Given the description of an element on the screen output the (x, y) to click on. 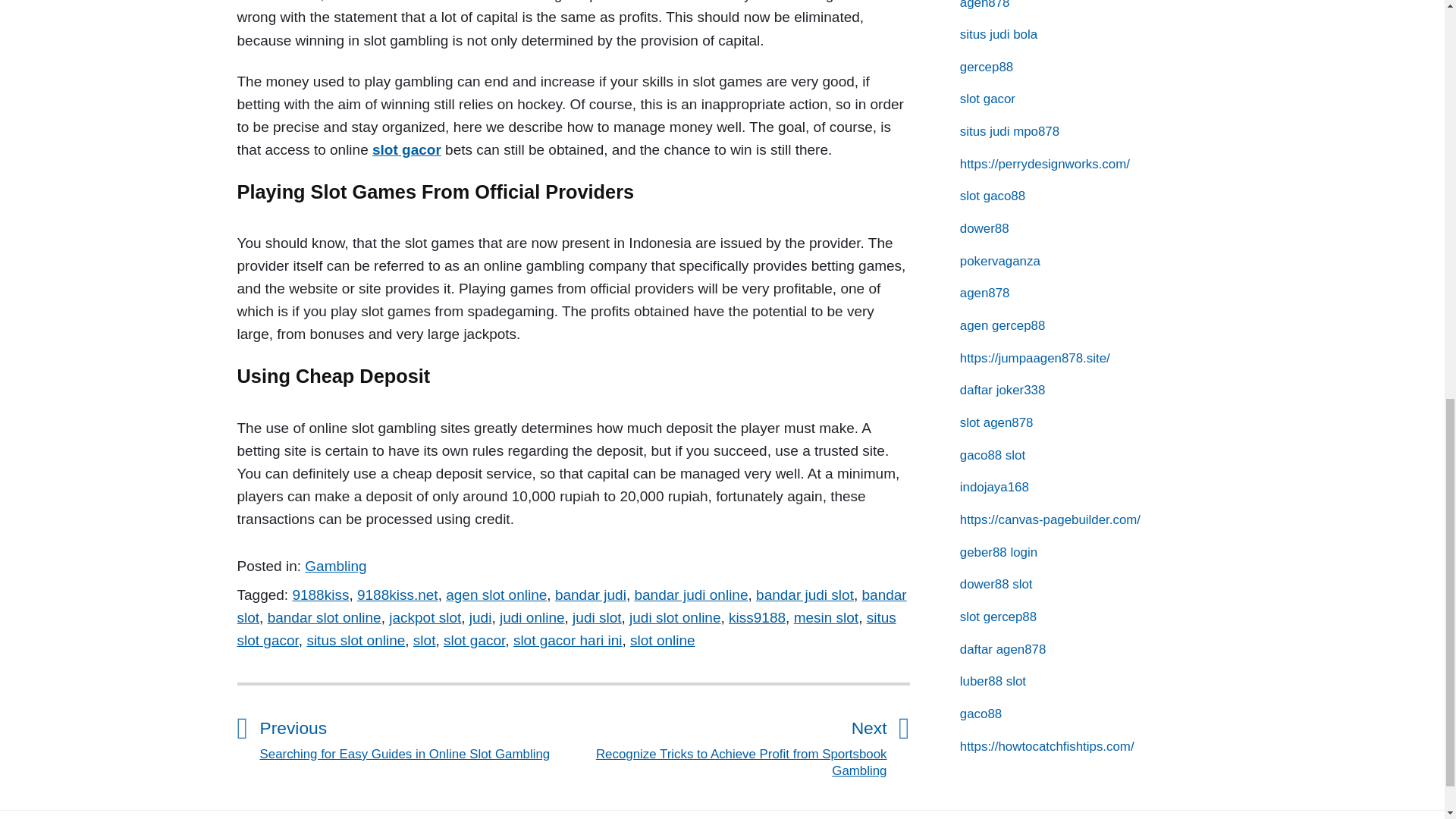
gaco88 slot (992, 454)
pokervaganza (1000, 260)
slot gacor (986, 98)
bandar judi (590, 594)
mesin slot (826, 617)
kiss9188 (757, 617)
agen gercep88 (1002, 325)
situs judi bola (997, 34)
judi (480, 617)
daftar joker338 (1002, 390)
situs slot gacor (565, 628)
bandar slot online (324, 617)
situs slot online (354, 640)
9188kiss (320, 594)
slot (424, 640)
